Given the description of an element on the screen output the (x, y) to click on. 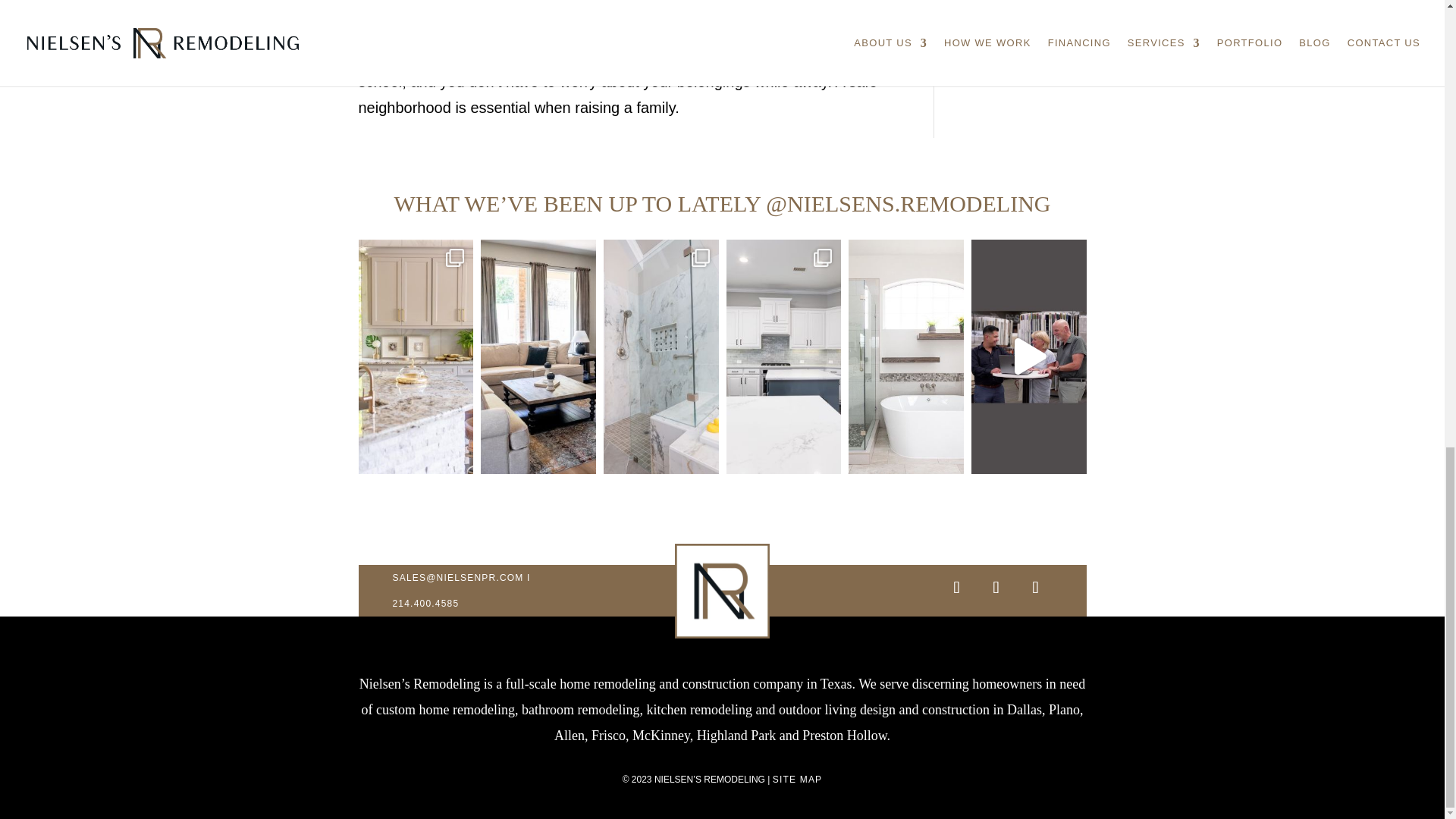
Nielsen Remodeling (722, 590)
Follow on X (994, 587)
Follow on Instagram (955, 587)
Follow on Facebook (1034, 587)
